Given the description of an element on the screen output the (x, y) to click on. 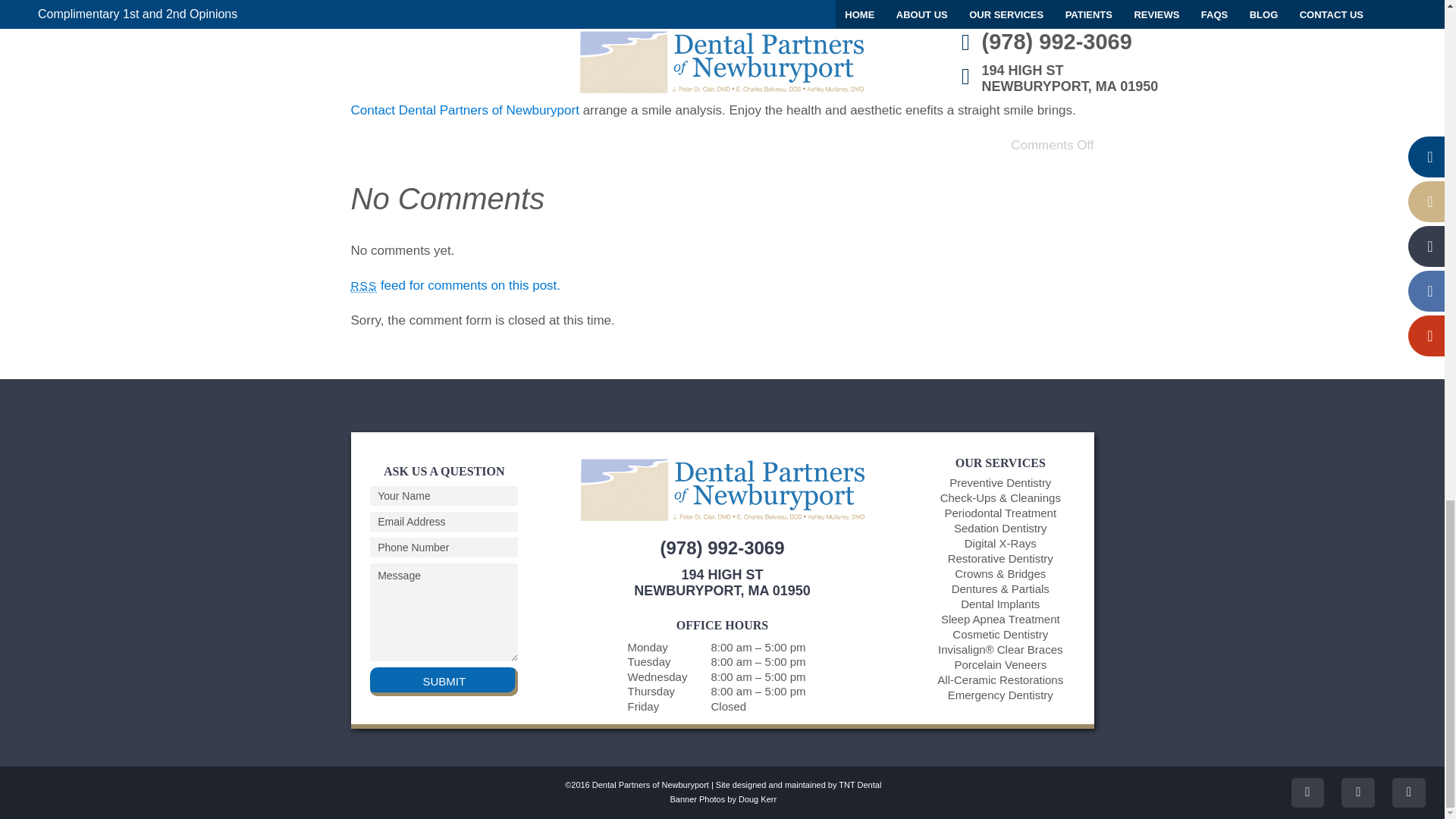
Submit (443, 681)
